Given the description of an element on the screen output the (x, y) to click on. 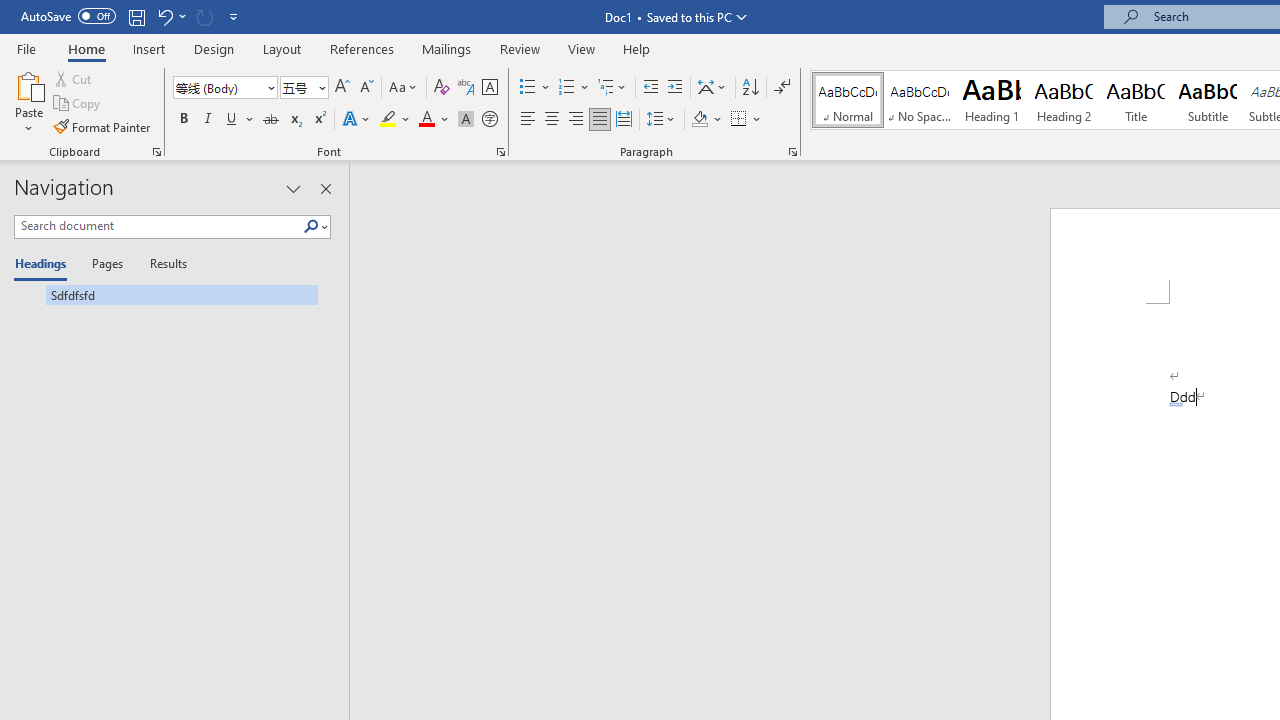
Undo AutoCorrect (164, 15)
